Given the description of an element on the screen output the (x, y) to click on. 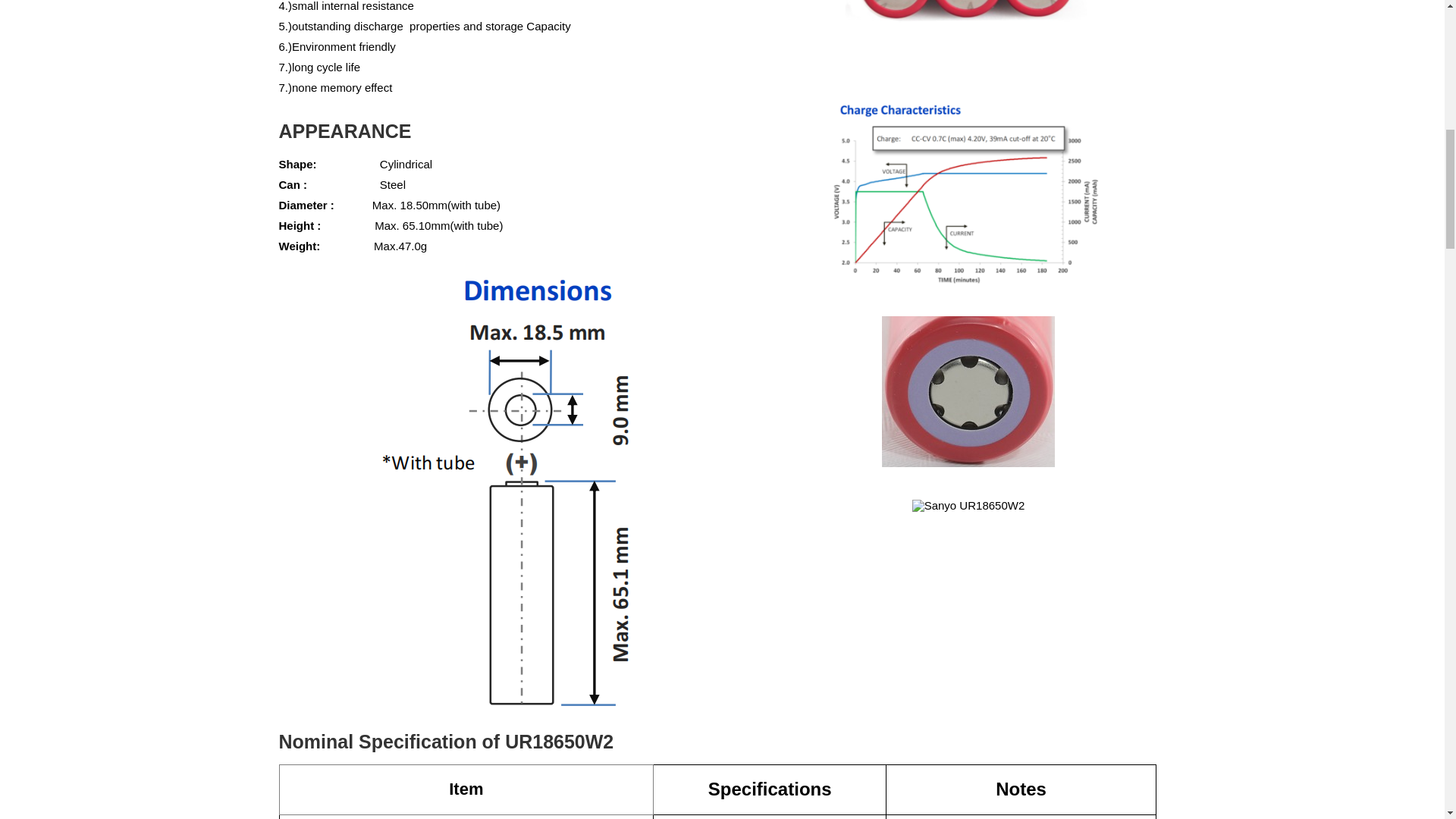
Charge Characteristics of Sanyo UR18650RX (968, 191)
Sanyo UR18650W2 (968, 33)
Sanyo UR18650W2 (968, 505)
Sanyo UR18650W2 (968, 391)
